Given the description of an element on the screen output the (x, y) to click on. 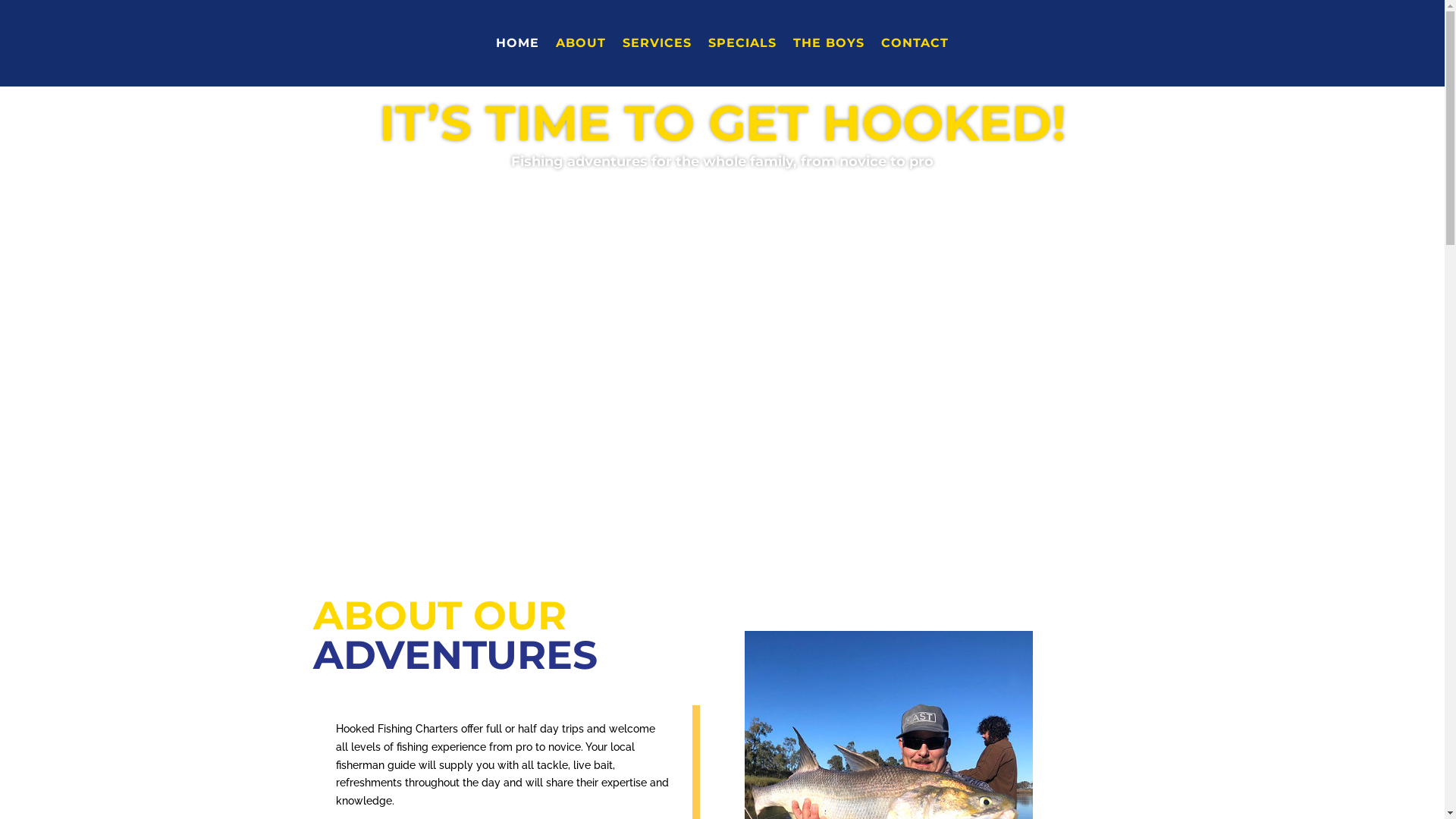
THE BOYS Element type: text (828, 61)
HOME Element type: text (517, 61)
SPECIALS Element type: text (742, 61)
SERVICES Element type: text (656, 61)
CONTACT Element type: text (914, 61)
ABOUT Element type: text (580, 61)
